Given the description of an element on the screen output the (x, y) to click on. 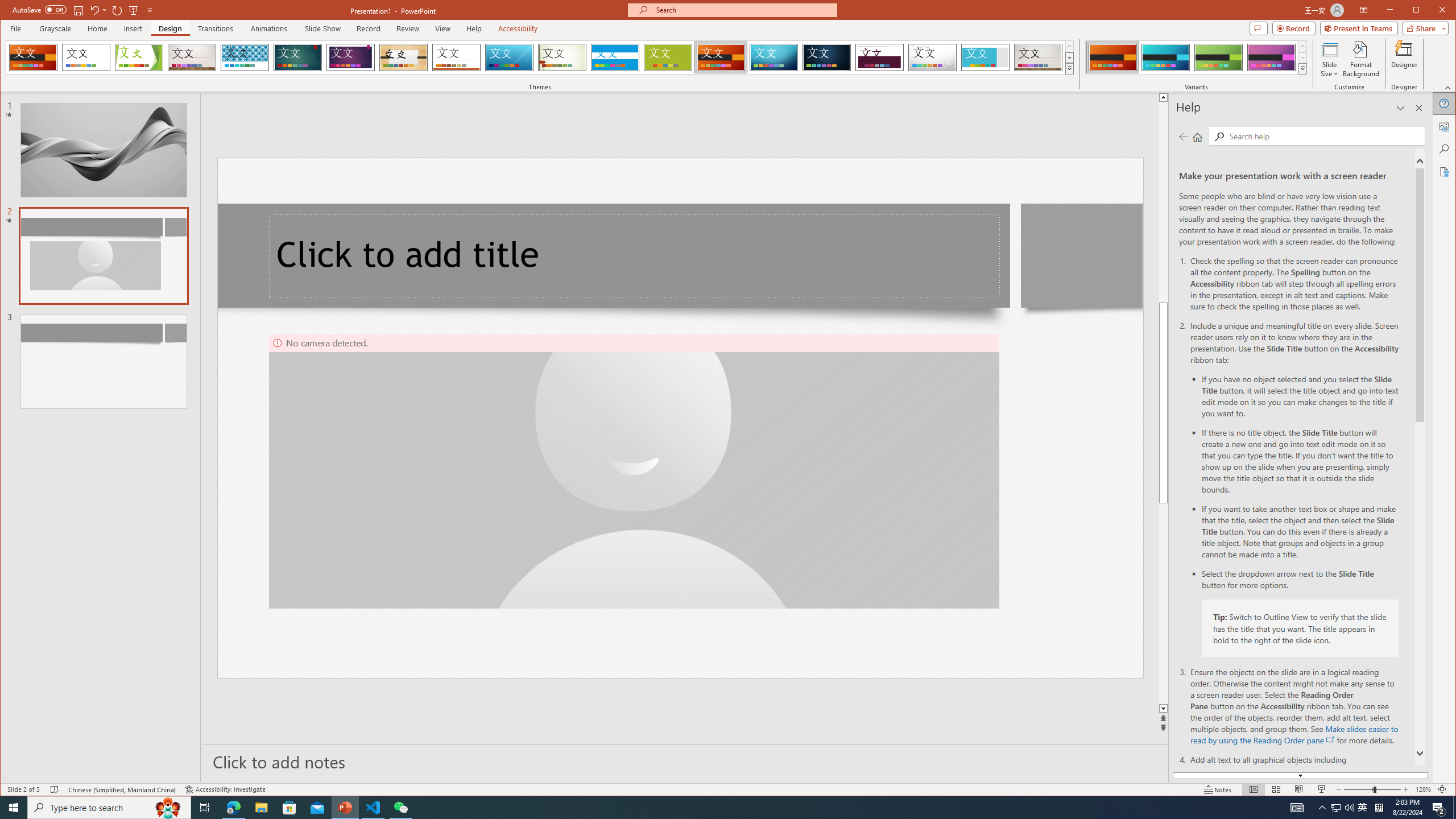
Themes (1069, 68)
Retrospect (456, 57)
Frame (985, 57)
Berlin (720, 57)
AutomationID: ThemeVariantsGallery (1196, 57)
Previous page (1183, 136)
Berlin Variant 2 (1165, 57)
AutomationID: SlideThemesGallery (540, 57)
